Given the description of an element on the screen output the (x, y) to click on. 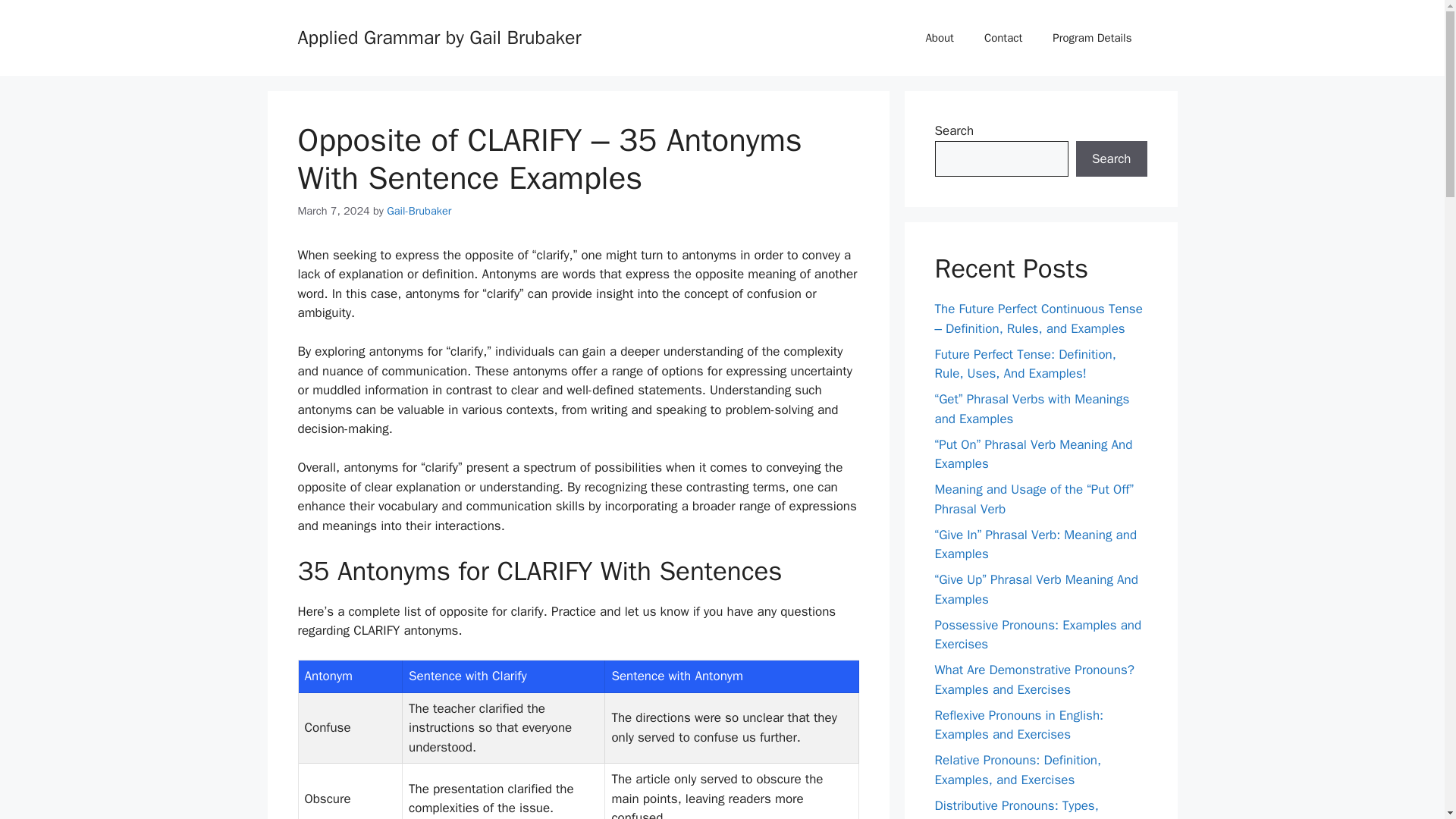
Search (1111, 158)
Possessive Pronouns: Examples and Exercises (1037, 634)
Gail-Brubaker (419, 210)
About (939, 37)
Future Perfect Tense: Definition, Rule, Uses, And Examples! (1024, 363)
Program Details (1091, 37)
Reflexive Pronouns in English: Examples and Exercises (1018, 724)
View all posts by Gail-Brubaker (419, 210)
Relative Pronouns: Definition, Examples, and Exercises (1017, 769)
Applied Grammar by Gail Brubaker (438, 37)
What Are Demonstrative Pronouns? Examples and Exercises (1034, 679)
Contact (1002, 37)
Distributive Pronouns: Types, Examples, and Usage (1015, 808)
